Given the description of an element on the screen output the (x, y) to click on. 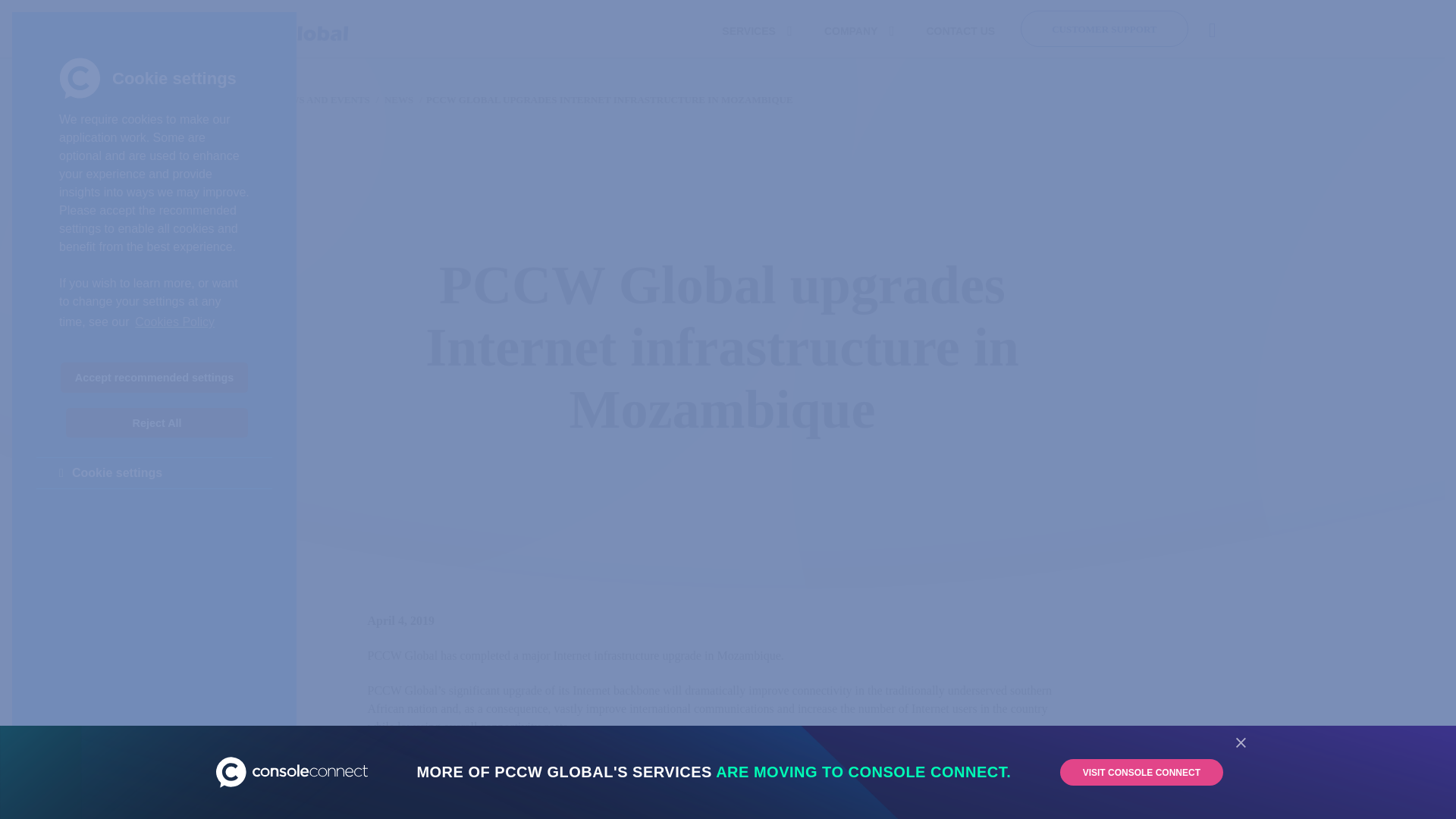
PCCW Global (283, 30)
SERVICES (755, 30)
Cookies Policy (174, 322)
Reject All (156, 422)
Cookie settings (154, 472)
Accept recommended settings (154, 377)
